Given the description of an element on the screen output the (x, y) to click on. 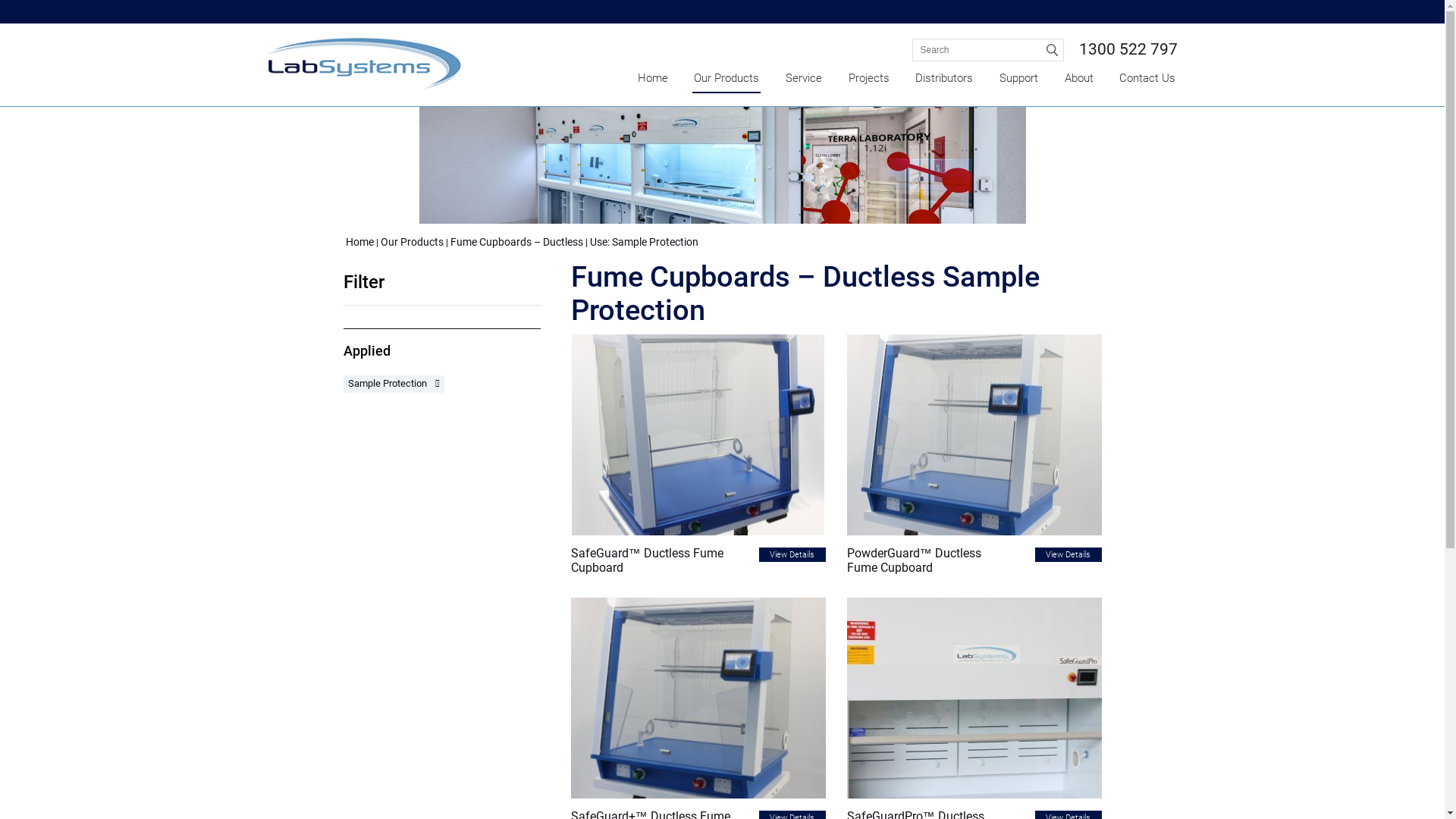
Sample Protection Element type: text (386, 383)
1300 522 797 Element type: text (1127, 49)
Support Element type: text (1018, 78)
Contact Us Element type: text (1146, 78)
Our Products Element type: text (726, 78)
Projects Element type: text (869, 78)
Use: Sample Protection Element type: text (643, 241)
Our Products Element type: text (411, 241)
About Element type: text (1079, 78)
Service Element type: text (803, 78)
Home Element type: text (359, 241)
View Details Element type: text (791, 554)
View Details Element type: text (1067, 554)
Distributors Element type: text (943, 78)
Home Element type: text (651, 78)
